Given the description of an element on the screen output the (x, y) to click on. 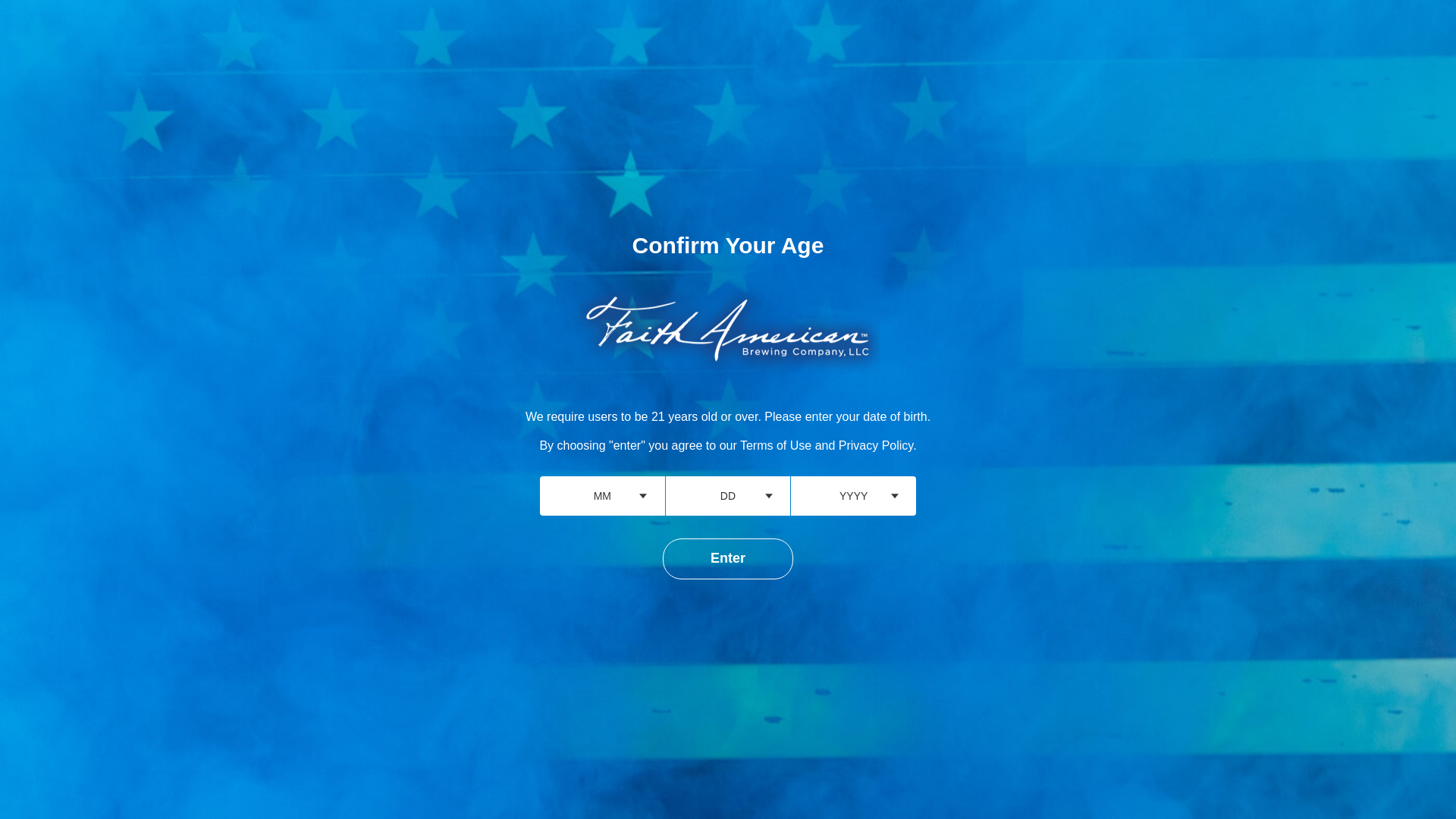
Enter (727, 558)
English (1366, 9)
Brands (929, 38)
Spanish (1313, 9)
Terms of Use (774, 445)
Find Our Beers (1009, 38)
Events (1089, 38)
Directions (1320, 38)
Privacy Policy (875, 445)
Retail (1386, 38)
Home (871, 38)
Contact (1252, 38)
English (1366, 9)
Company News (1170, 38)
